Given the description of an element on the screen output the (x, y) to click on. 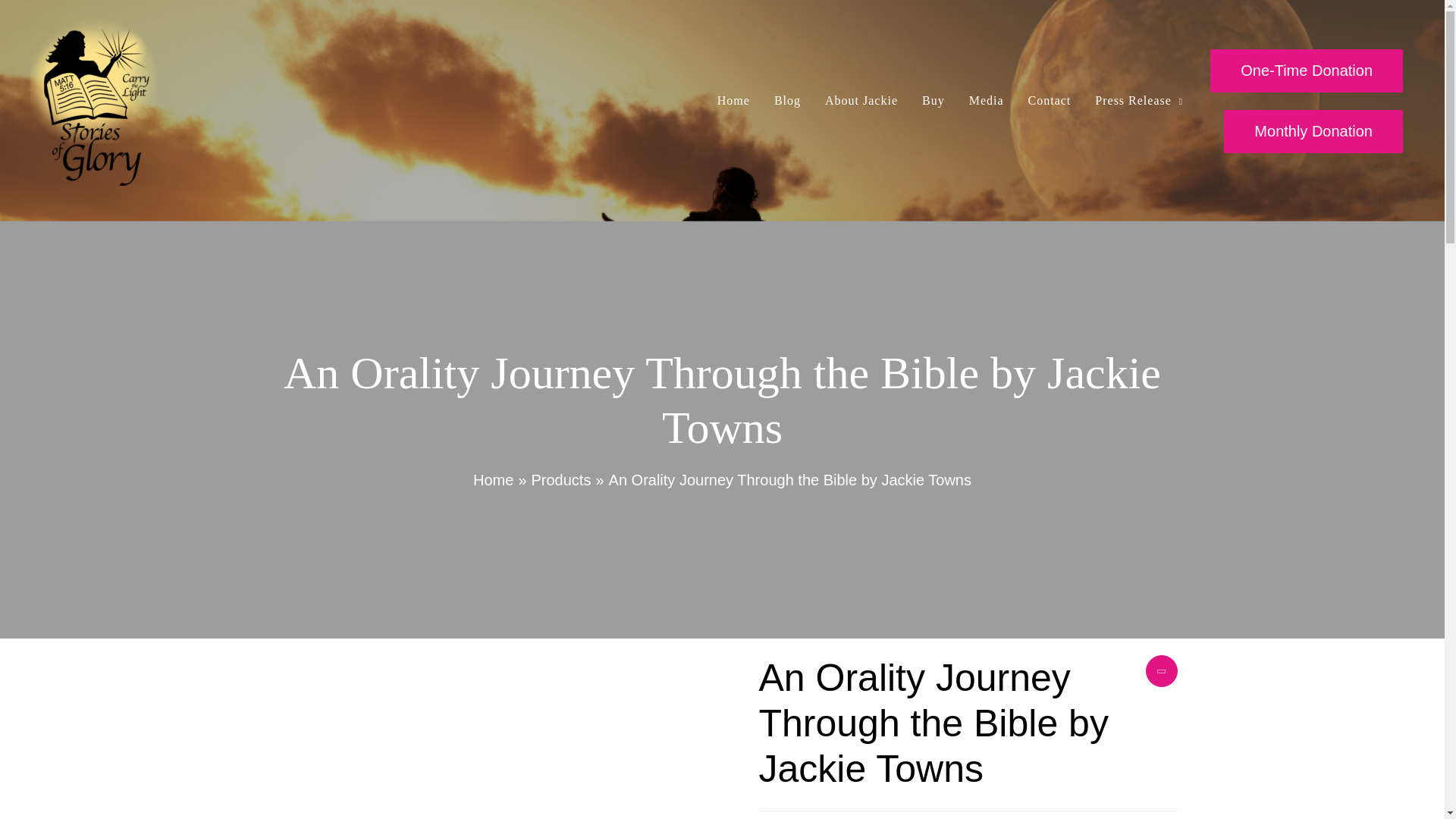
One-Time Donation (1306, 69)
One-Time Donation (1306, 69)
Monthly Donation (1313, 130)
Buy (933, 100)
Home (493, 479)
Home (732, 100)
Products (561, 479)
Press Release (1139, 100)
Blog (786, 100)
Contact (1049, 100)
